Given the description of an element on the screen output the (x, y) to click on. 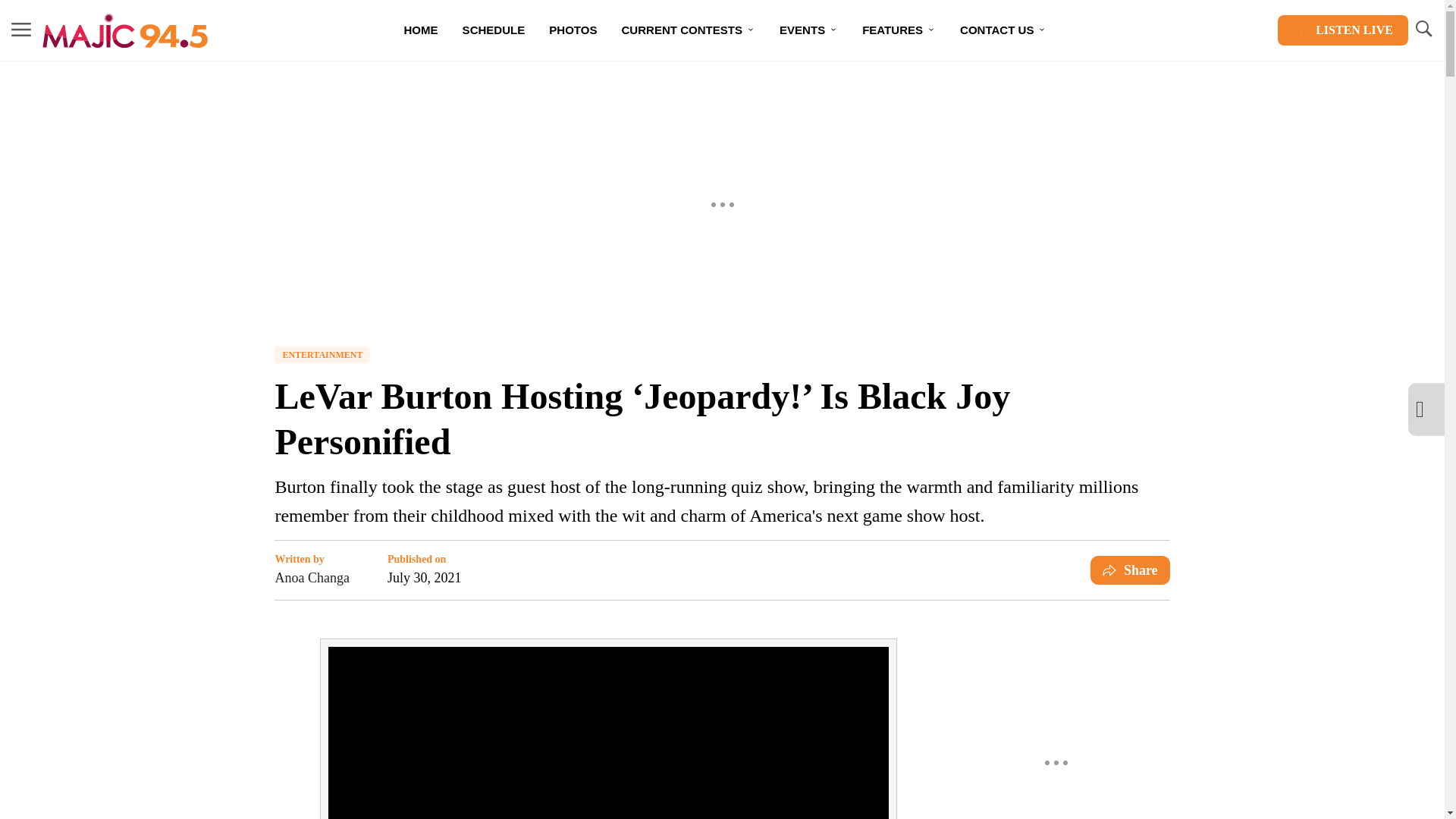
TOGGLE SEARCH (1422, 30)
HOME (420, 30)
SCHEDULE (493, 30)
CONTACT US (1002, 30)
ENTERTAINMENT (322, 354)
FEATURES (898, 30)
Share (1130, 570)
Anoa Changa (312, 577)
EVENTS (808, 30)
LISTEN LIVE (1342, 30)
